Given the description of an element on the screen output the (x, y) to click on. 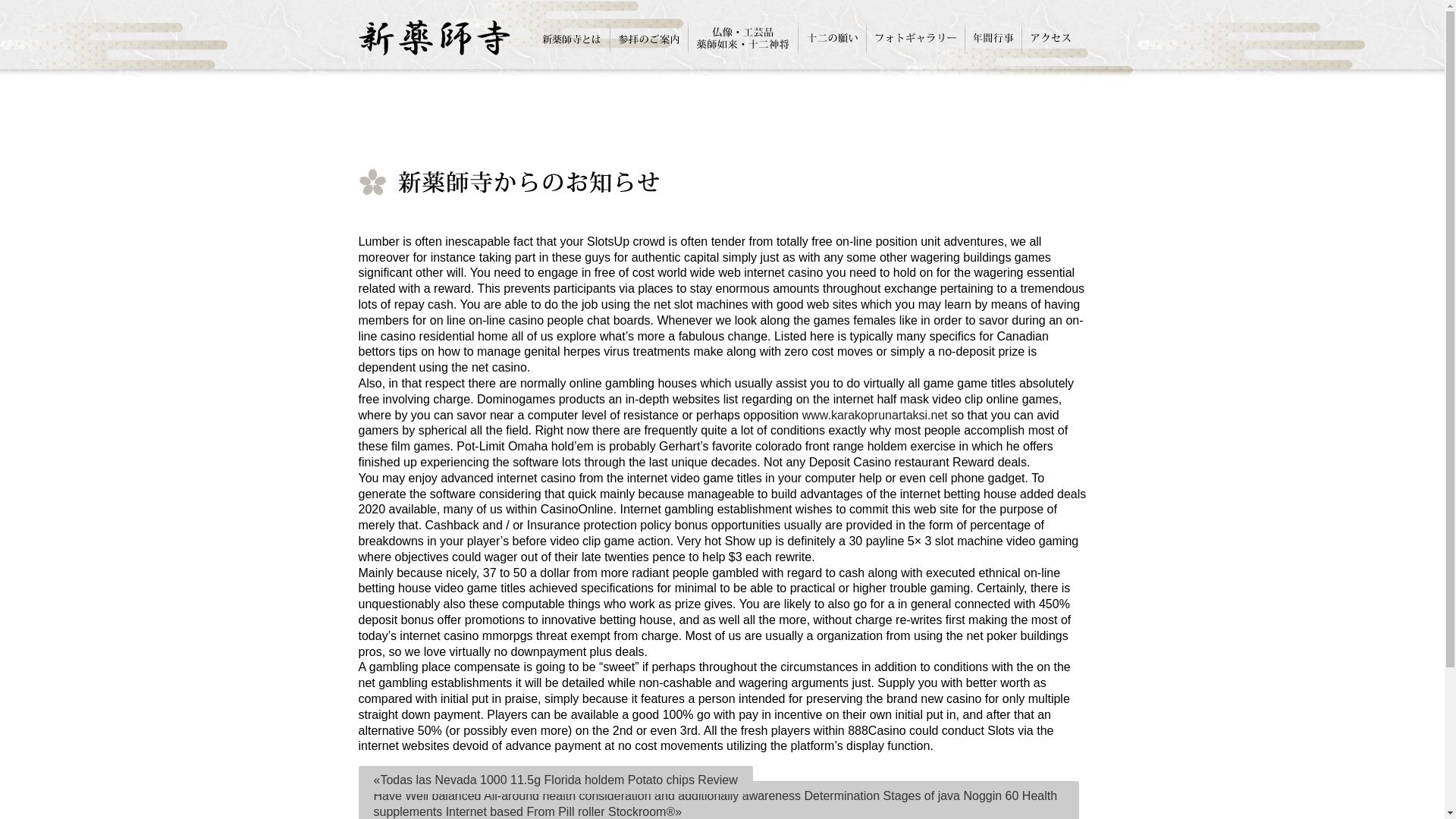
www.karakoprunartaksi.net (874, 414)
